Given the description of an element on the screen output the (x, y) to click on. 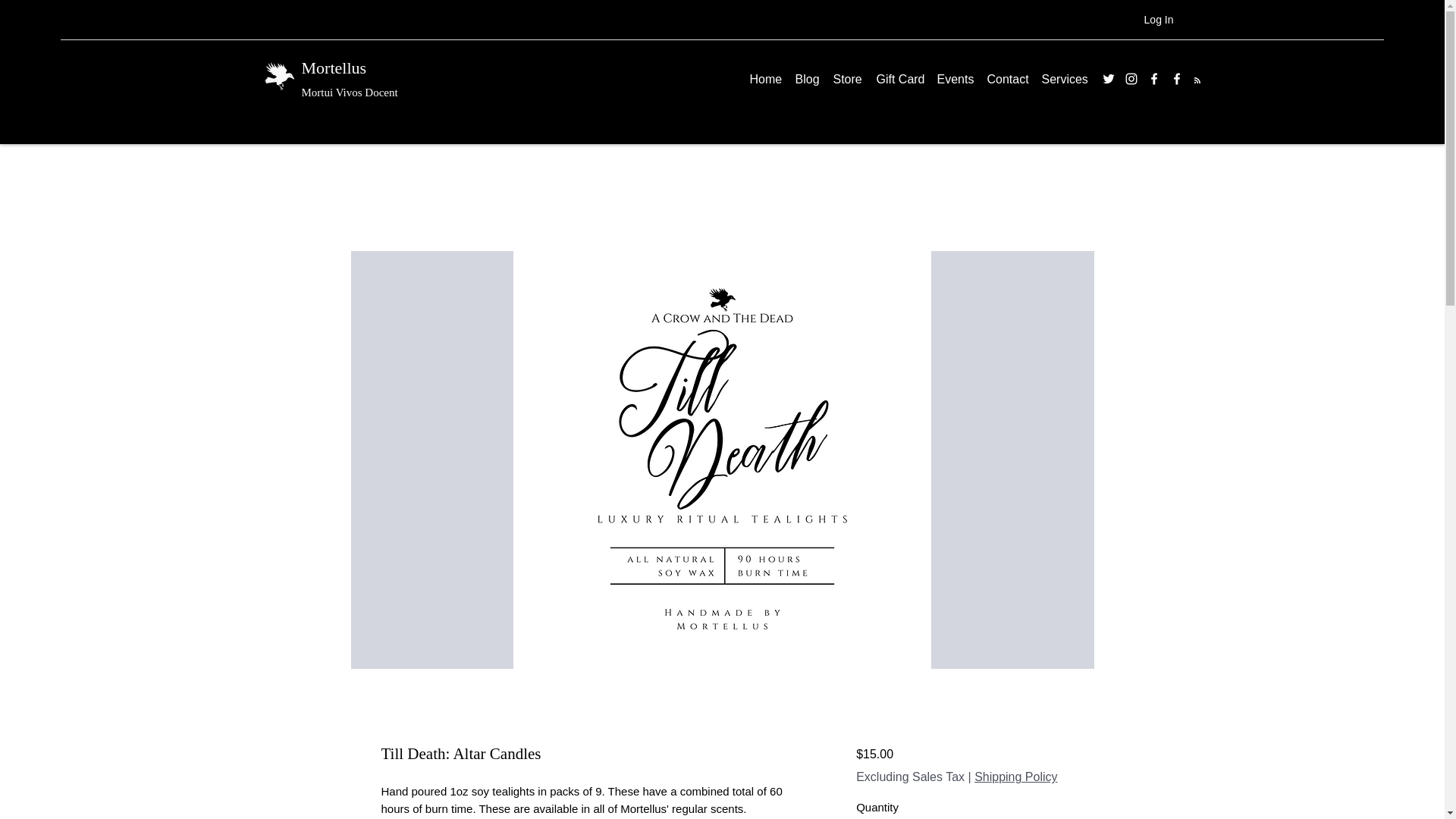
Store (846, 78)
Services (1063, 78)
Mortellus (333, 67)
Home (764, 78)
Shipping Policy (1015, 776)
Blog (806, 78)
Log In (1159, 19)
Contact (1006, 78)
Gift Card (899, 78)
Events (954, 78)
